Given the description of an element on the screen output the (x, y) to click on. 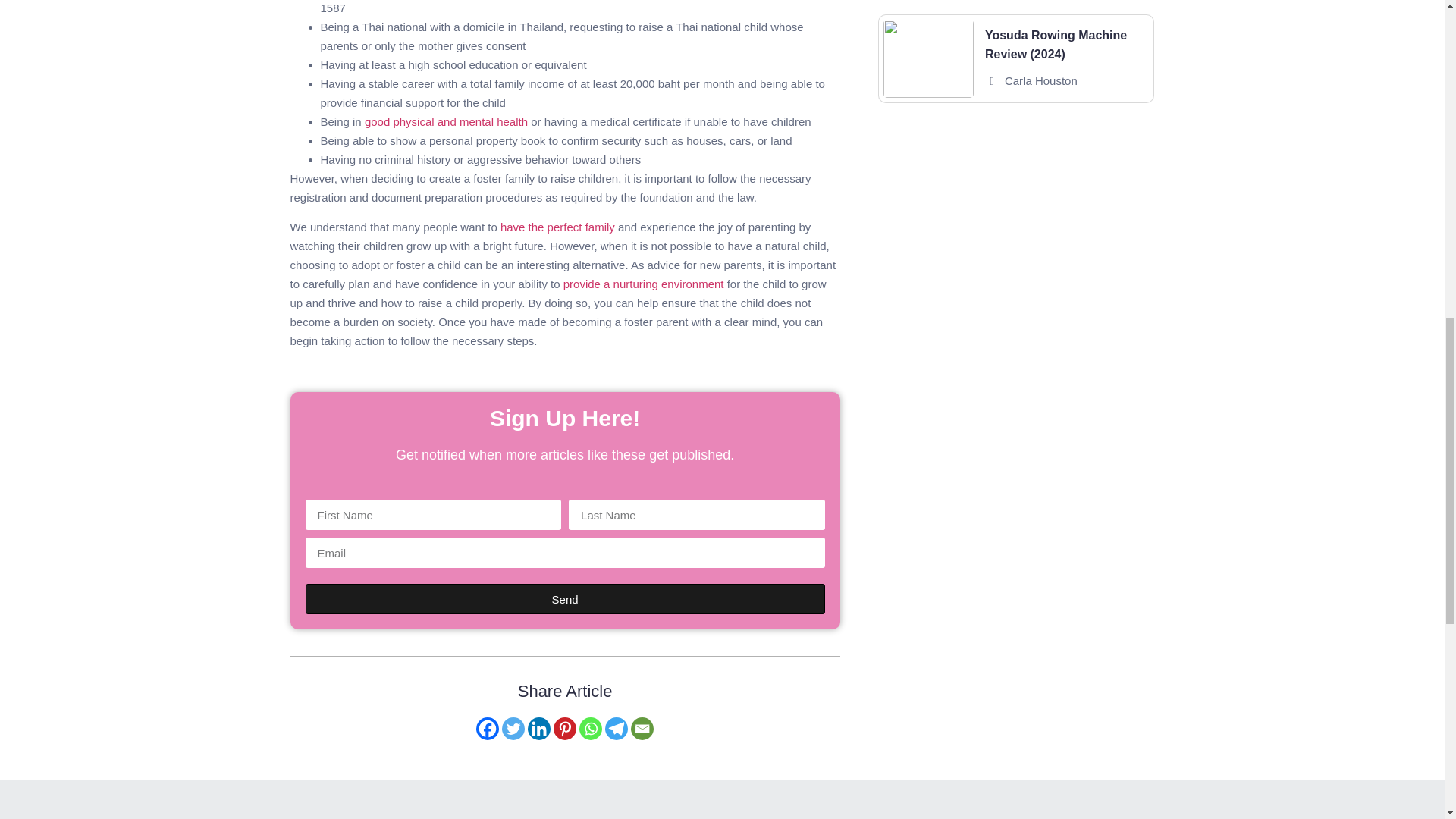
Telegram (616, 728)
Pinterest (564, 728)
Posts by Carla Houston (1040, 80)
Twitter (513, 728)
provide a nurturing environment (643, 283)
have the perfect family (557, 226)
Linkedin (538, 728)
Whatsapp (590, 728)
Email (641, 728)
Facebook (487, 728)
